Given the description of an element on the screen output the (x, y) to click on. 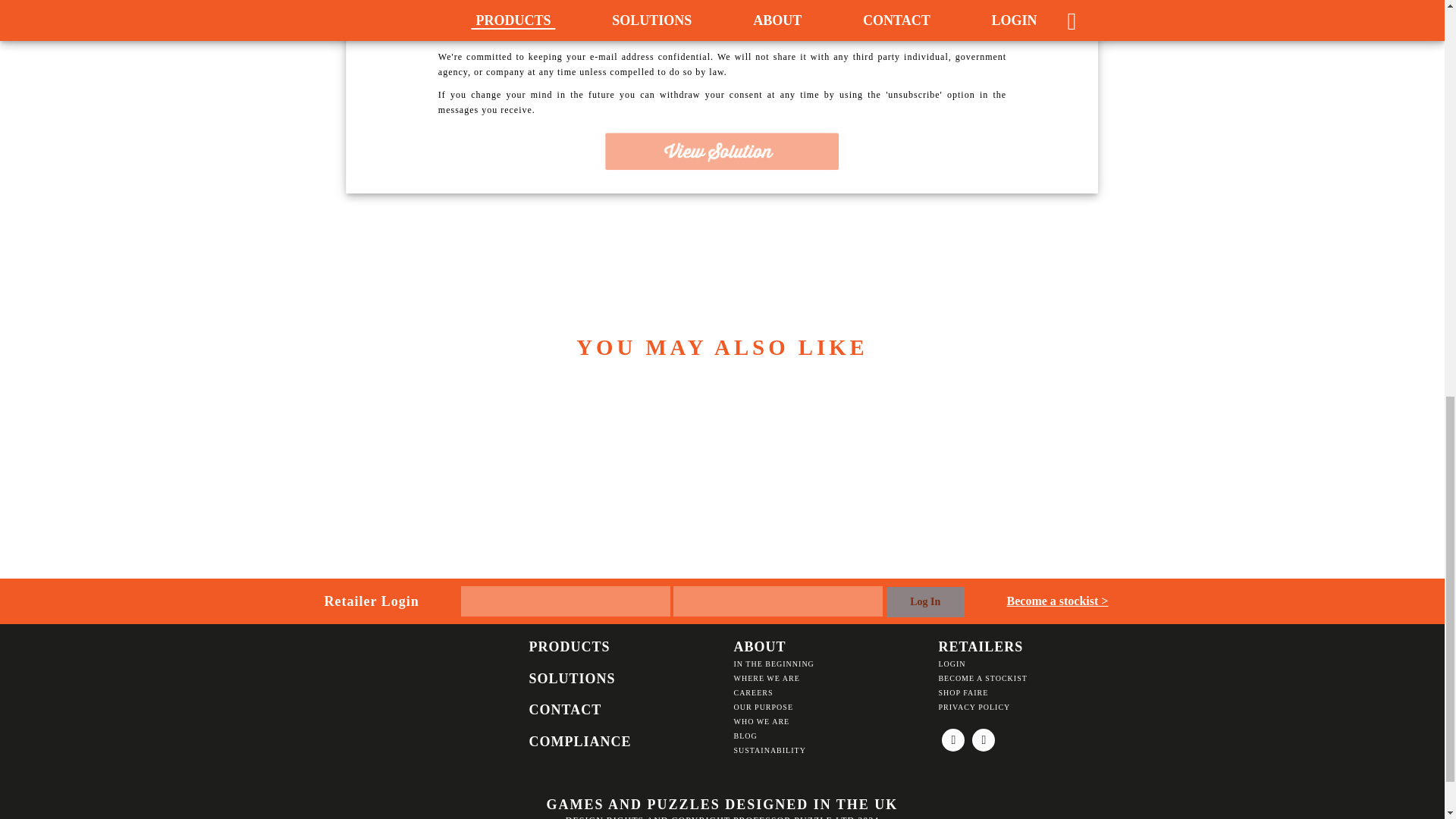
Log In (924, 602)
Please send me cool stuff from Professor Puzzle (462, 9)
